Given the description of an element on the screen output the (x, y) to click on. 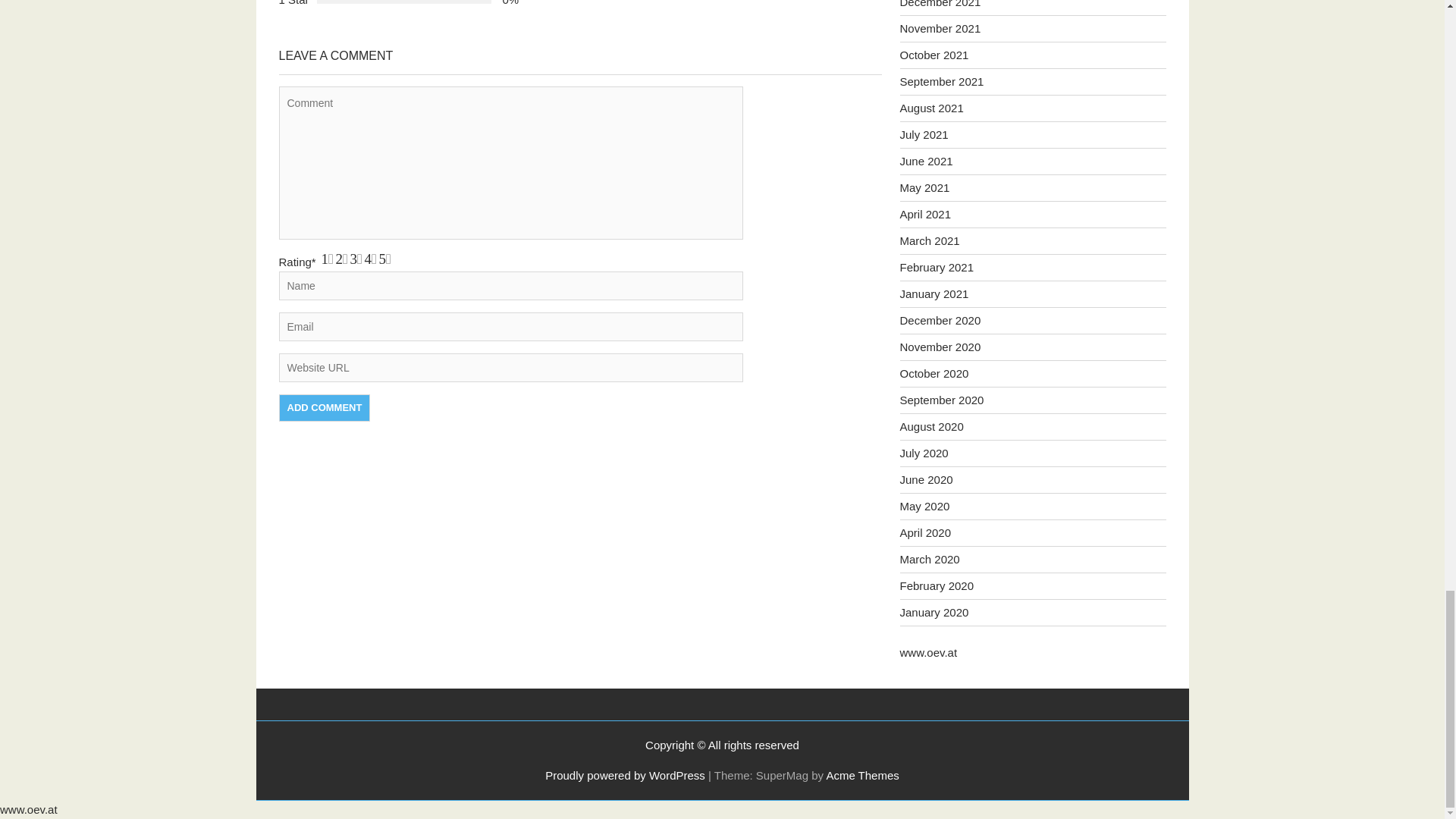
Add Comment (325, 407)
